Given the description of an element on the screen output the (x, y) to click on. 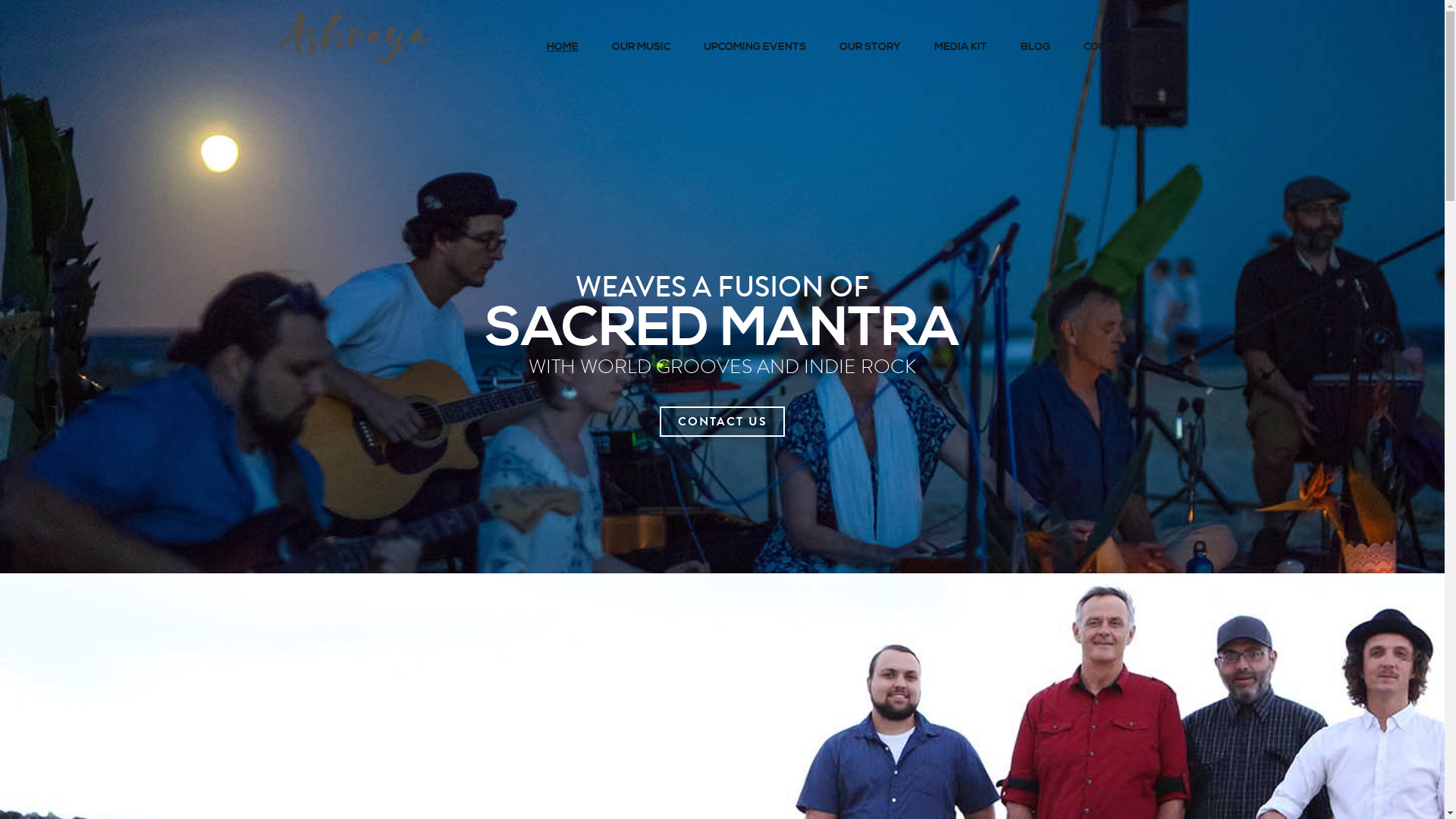
UPCOMING EVENTS Element type: text (754, 46)
HOME Element type: text (561, 46)
MEDIA KIT Element type: text (960, 46)
BLOG Element type: text (1035, 46)
CONTACT US Element type: text (721, 421)
OUR STORY Element type: text (869, 46)
CONTACT US Element type: text (1116, 46)
OUR MUSIC Element type: text (640, 46)
